Given the description of an element on the screen output the (x, y) to click on. 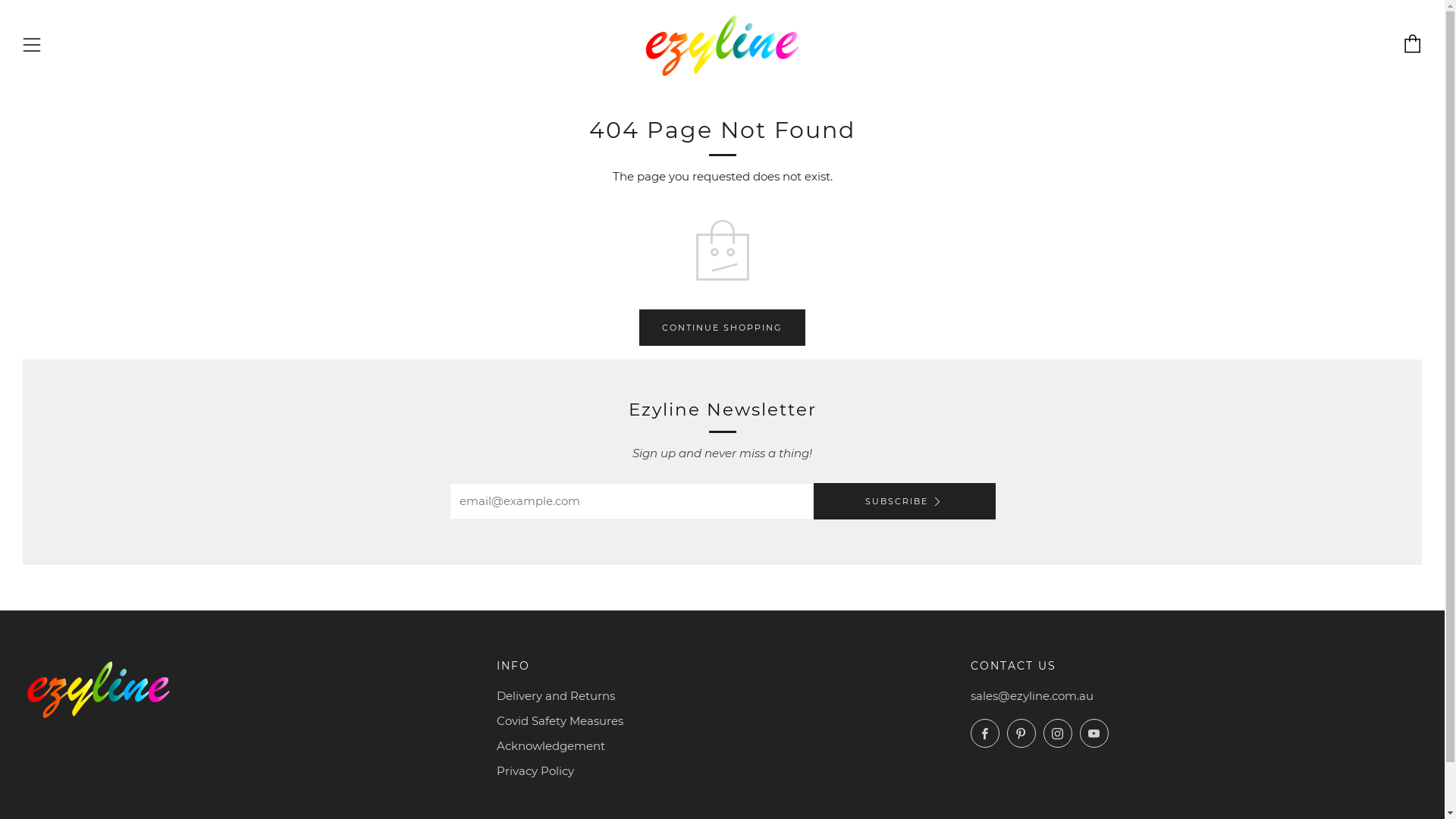
Menu Element type: text (31, 45)
Pinterest Element type: text (1021, 732)
Cart Element type: text (1412, 43)
sales@ezyline.com.au Element type: text (1031, 695)
Facebook Element type: text (984, 732)
CONTINUE SHOPPING Element type: text (722, 327)
Delivery and Returns Element type: text (555, 695)
Covid Safety Measures Element type: text (559, 720)
Instagram Element type: text (1057, 732)
YouTube Element type: text (1093, 732)
Privacy Policy Element type: text (535, 770)
SUBSCRIBE Element type: text (903, 501)
Acknowledgement Element type: text (550, 745)
